Given the description of an element on the screen output the (x, y) to click on. 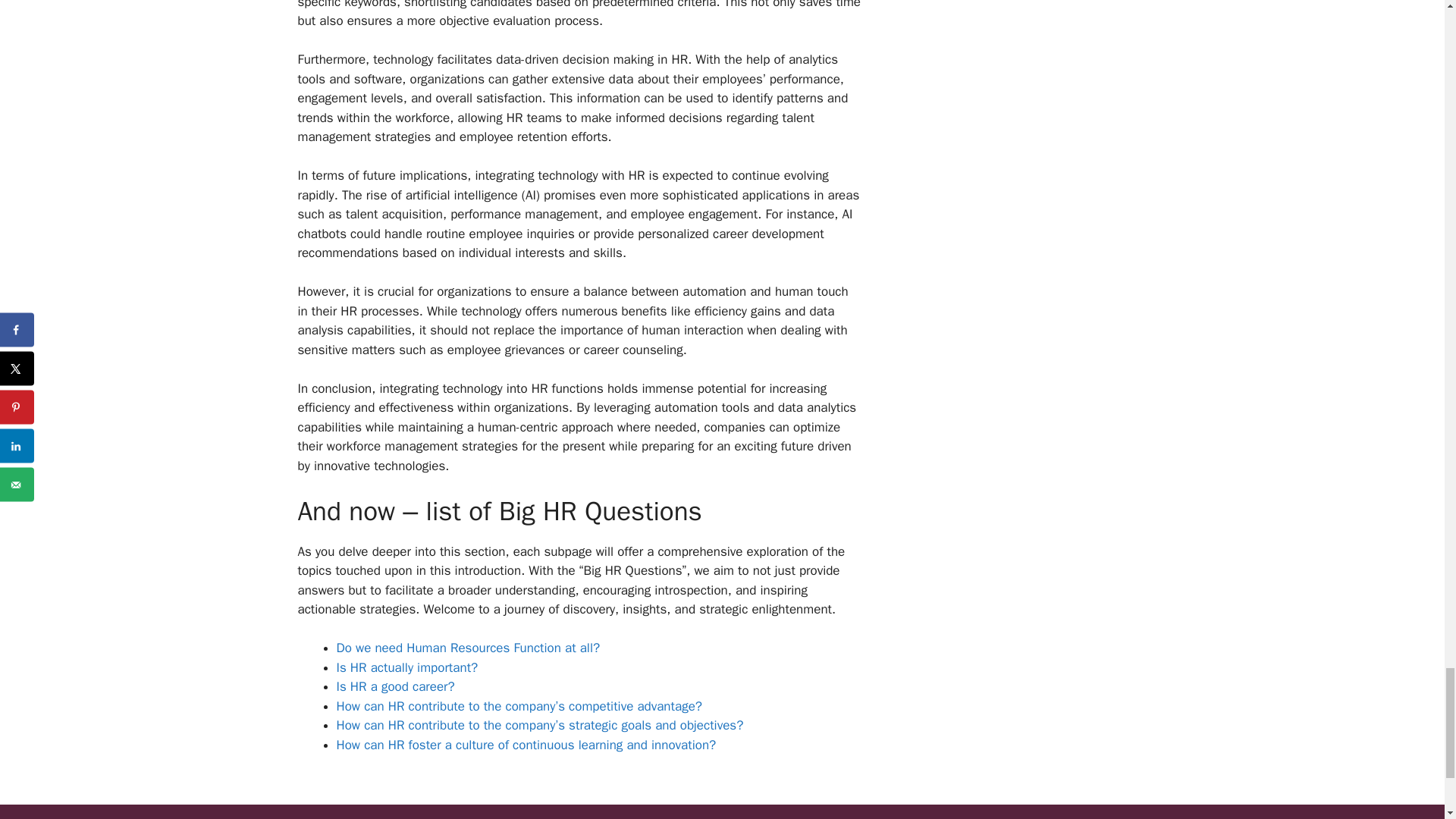
Is HR actually important? (407, 667)
Do we need Human Resources Function at all? (467, 647)
Is HR a good career? (395, 686)
